Given the description of an element on the screen output the (x, y) to click on. 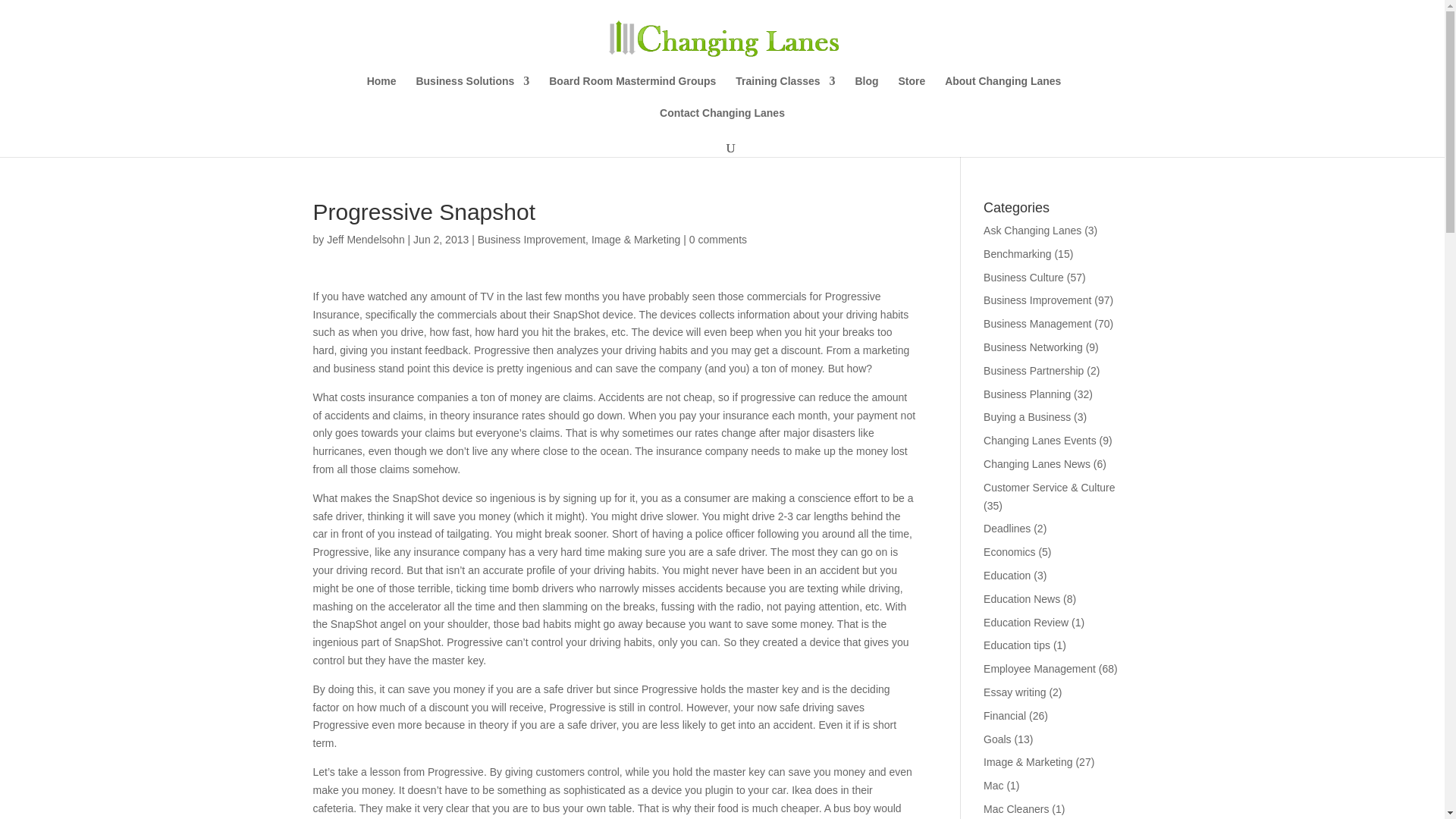
Business Improvement (1037, 300)
Education Review (1026, 622)
Posts by Jeff Mendelsohn (365, 239)
Education News (1021, 598)
Benchmarking (1017, 254)
Home (381, 91)
Board Room Mastermind Groups (632, 91)
Jeff Mendelsohn (365, 239)
Business Management (1037, 323)
Ask Changing Lanes (1032, 230)
